Given the description of an element on the screen output the (x, y) to click on. 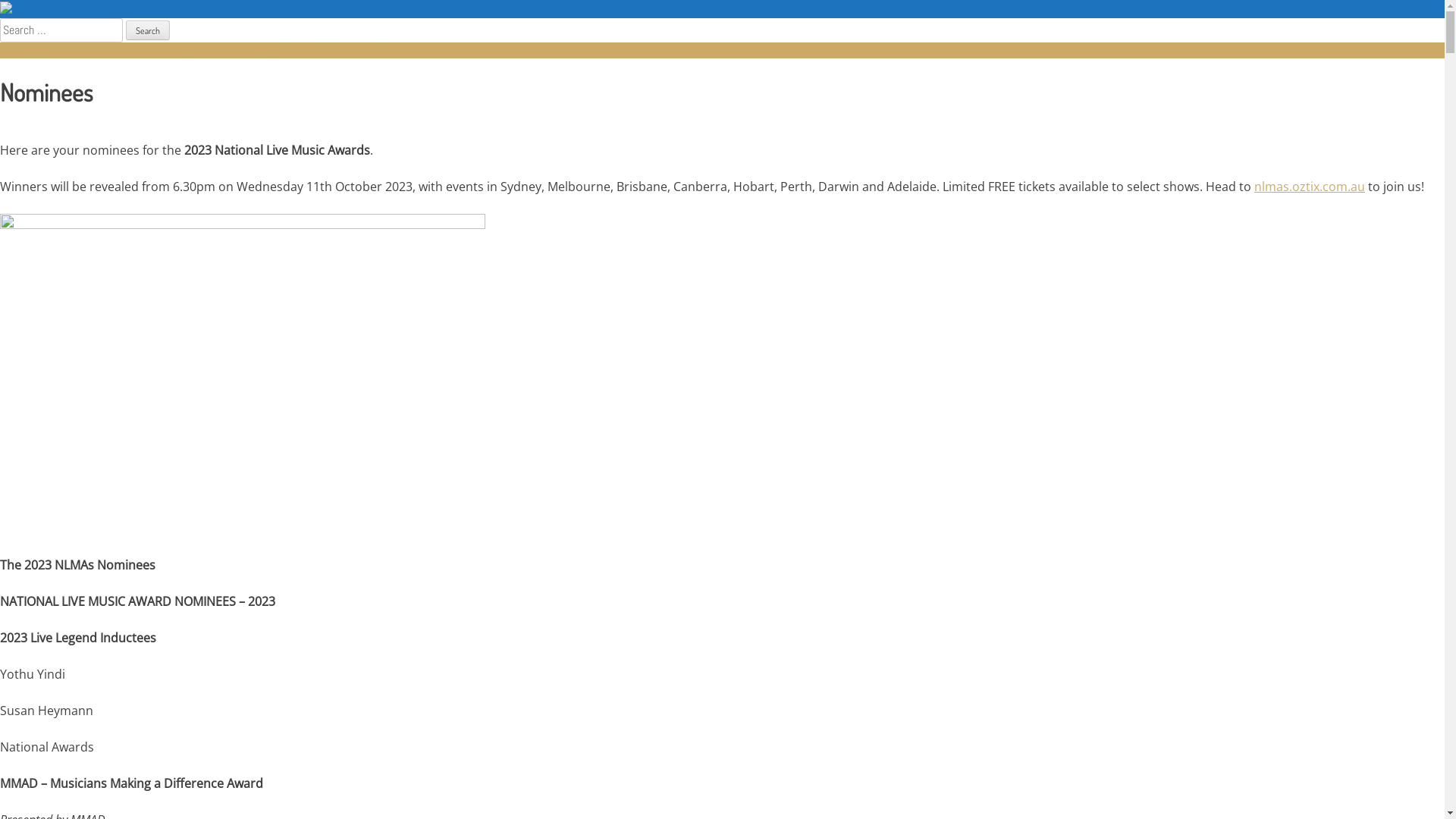
Home Element type: text (11, 50)
What are the NLMAs? Element type: text (241, 50)
nlmas.oztix.com.au Element type: text (1309, 186)
Get Free Tickets Element type: text (363, 50)
Past Winners Element type: text (173, 50)
2023 Nominees Element type: text (53, 50)
Event Programs Element type: text (115, 50)
Search Element type: text (147, 30)
Get Involved Element type: text (307, 50)
